Given the description of an element on the screen output the (x, y) to click on. 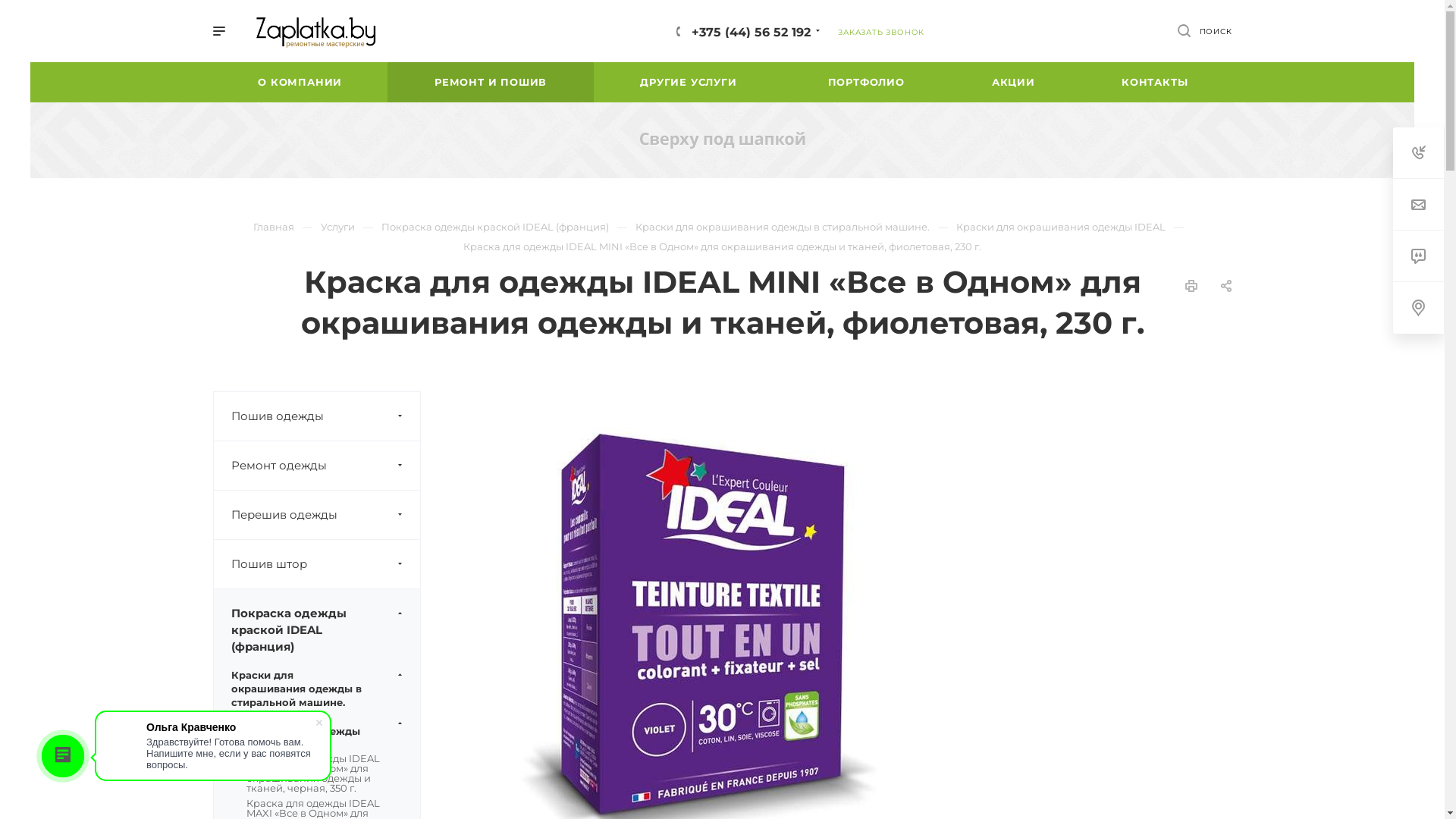
+375 (44) 56 52 192 Element type: text (750, 31)
